Given the description of an element on the screen output the (x, y) to click on. 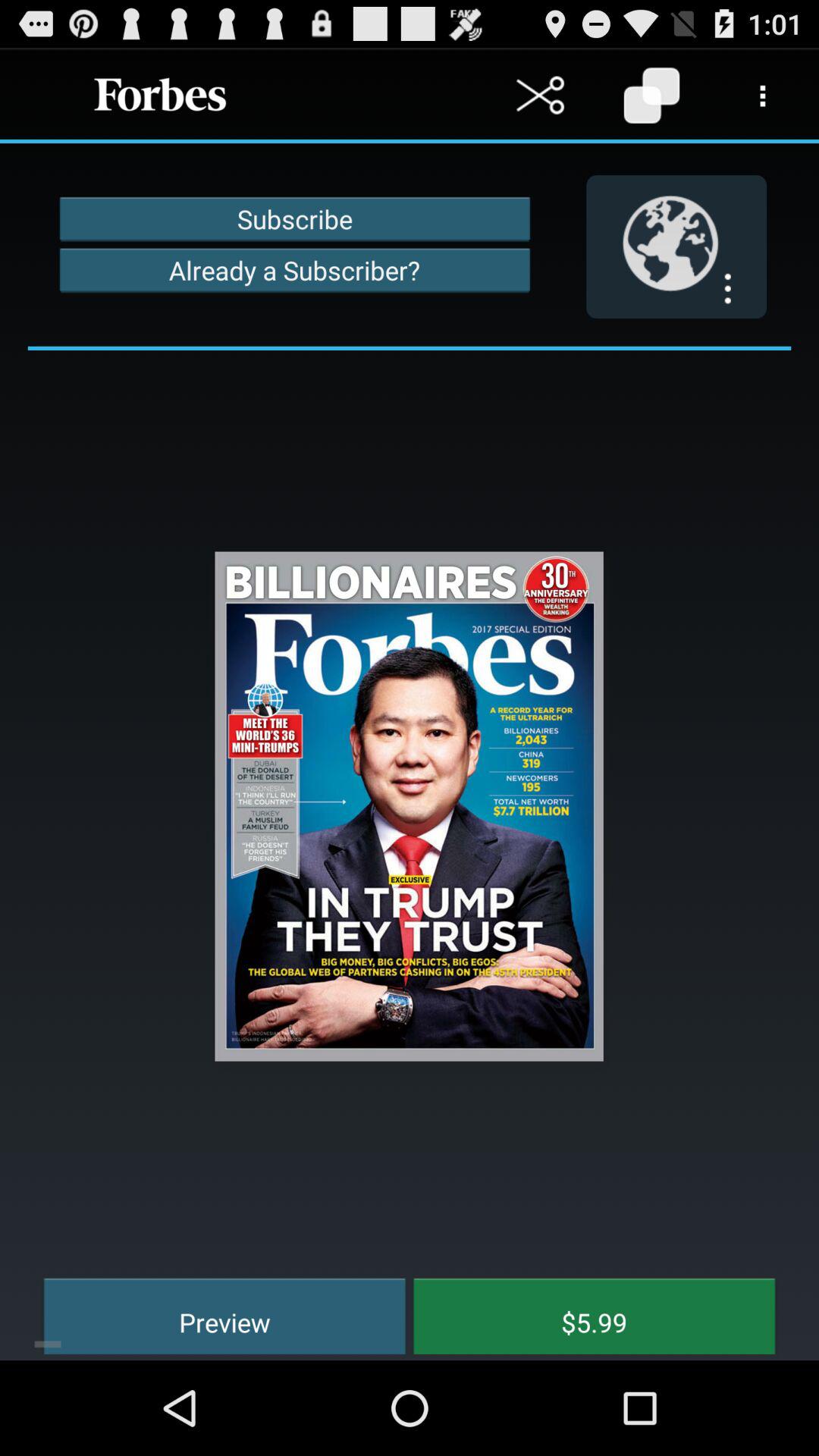
turn off $5.99 icon (583, 1314)
